Given the description of an element on the screen output the (x, y) to click on. 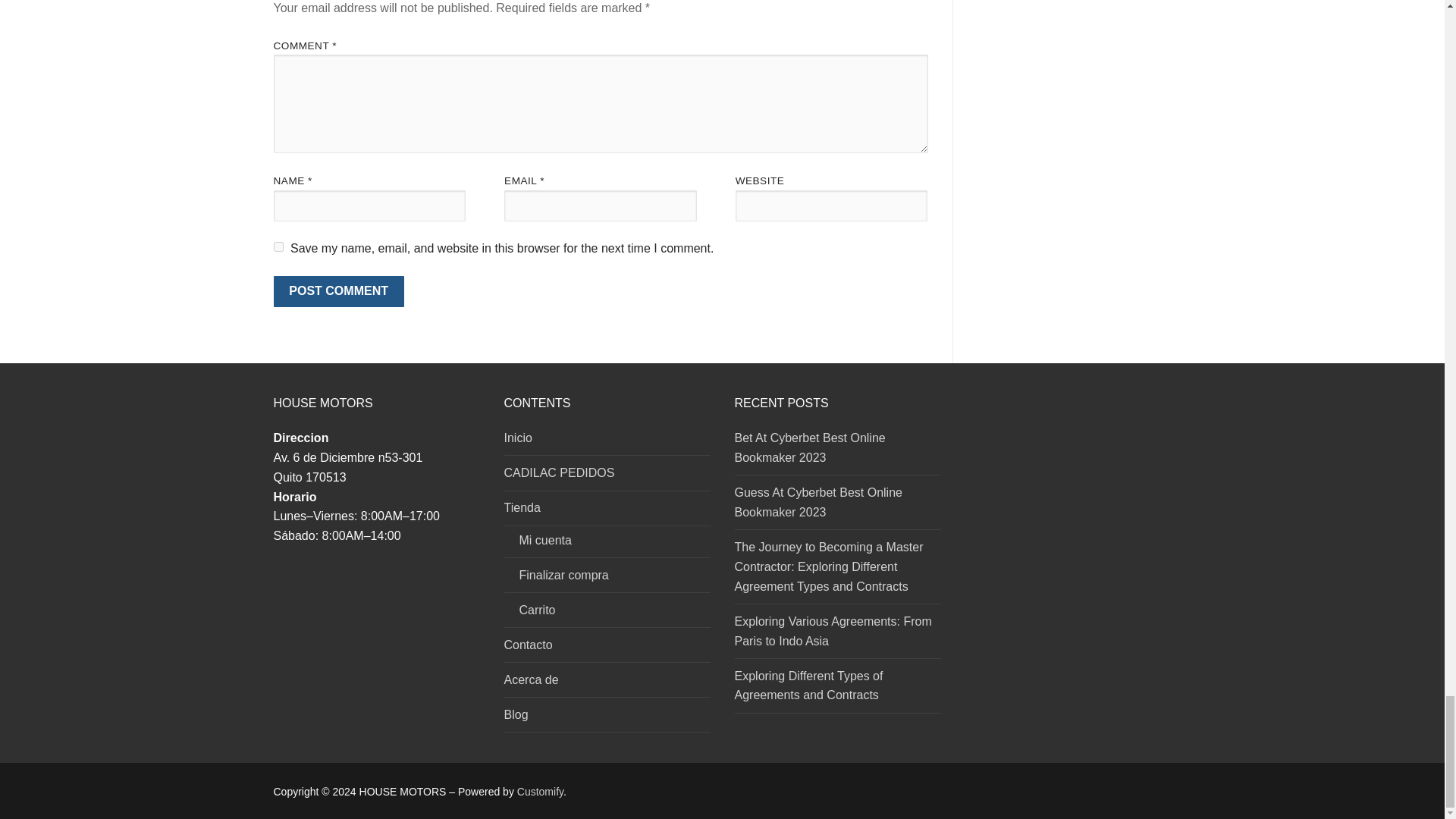
Post Comment (338, 291)
Post Comment (338, 291)
yes (277, 246)
